Given the description of an element on the screen output the (x, y) to click on. 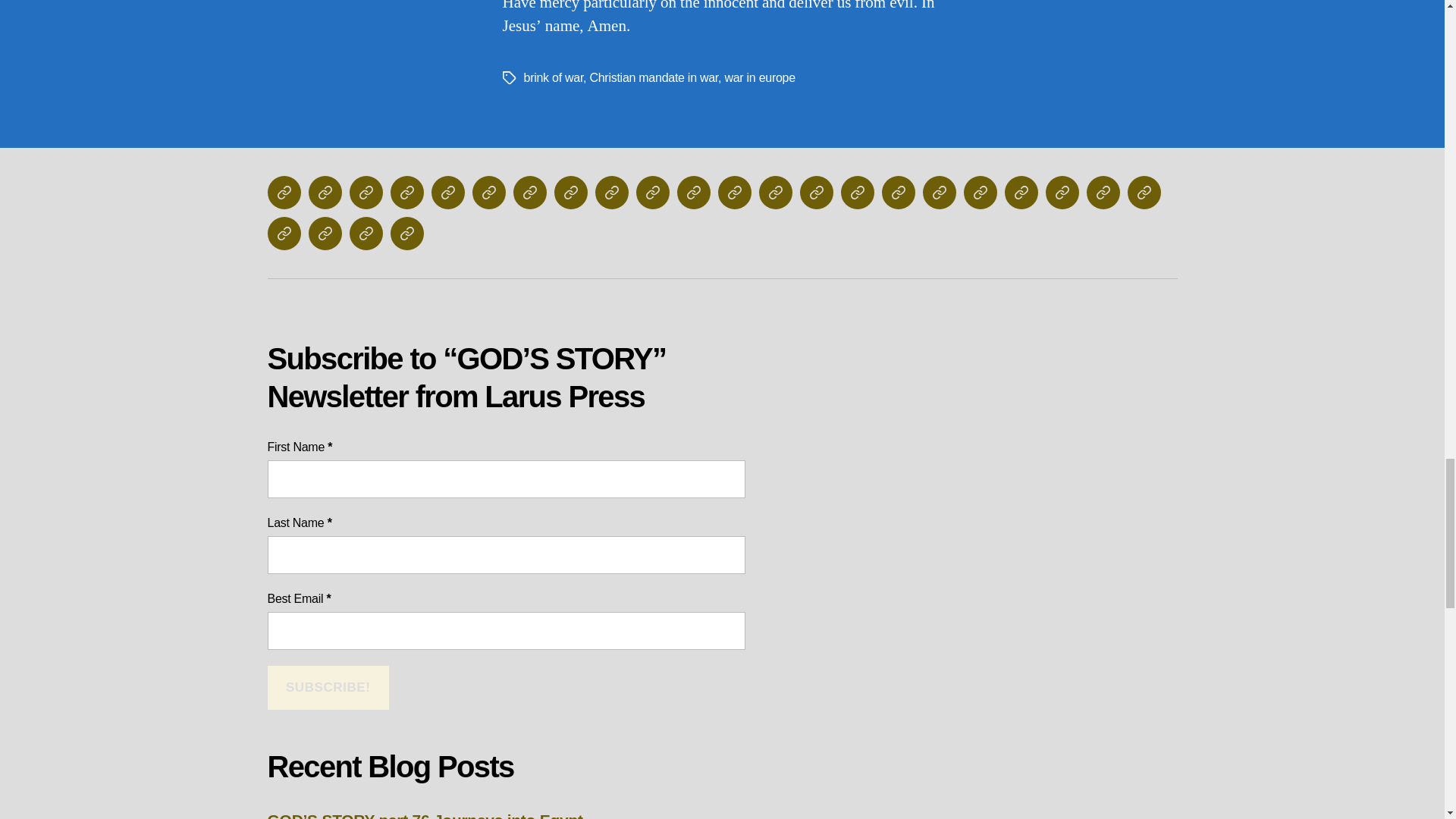
Best Email (505, 630)
Last Name (505, 555)
First Name (505, 478)
Subscribe! (327, 687)
